Given the description of an element on the screen output the (x, y) to click on. 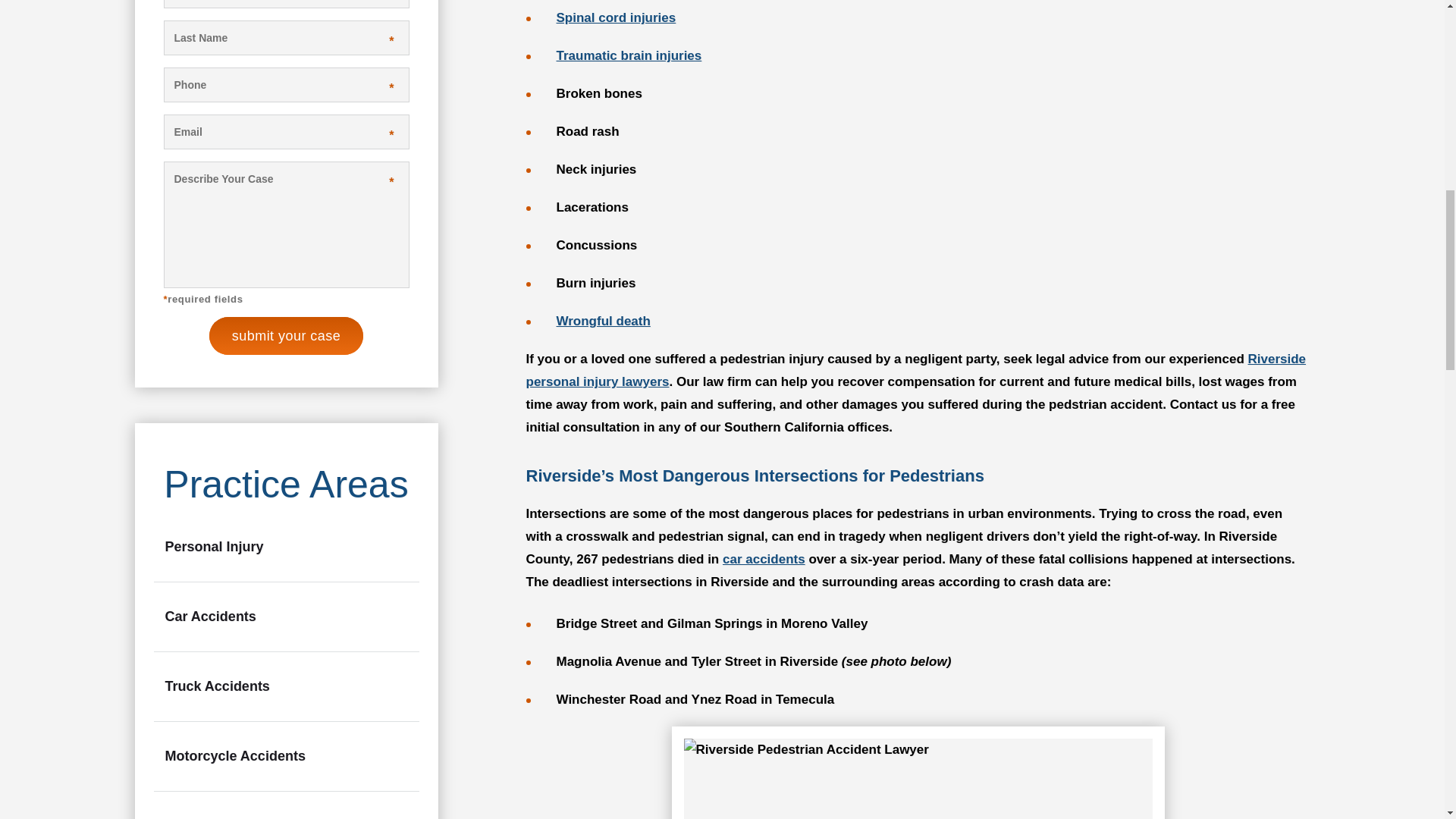
Submit Your Case (285, 335)
